Given the description of an element on the screen output the (x, y) to click on. 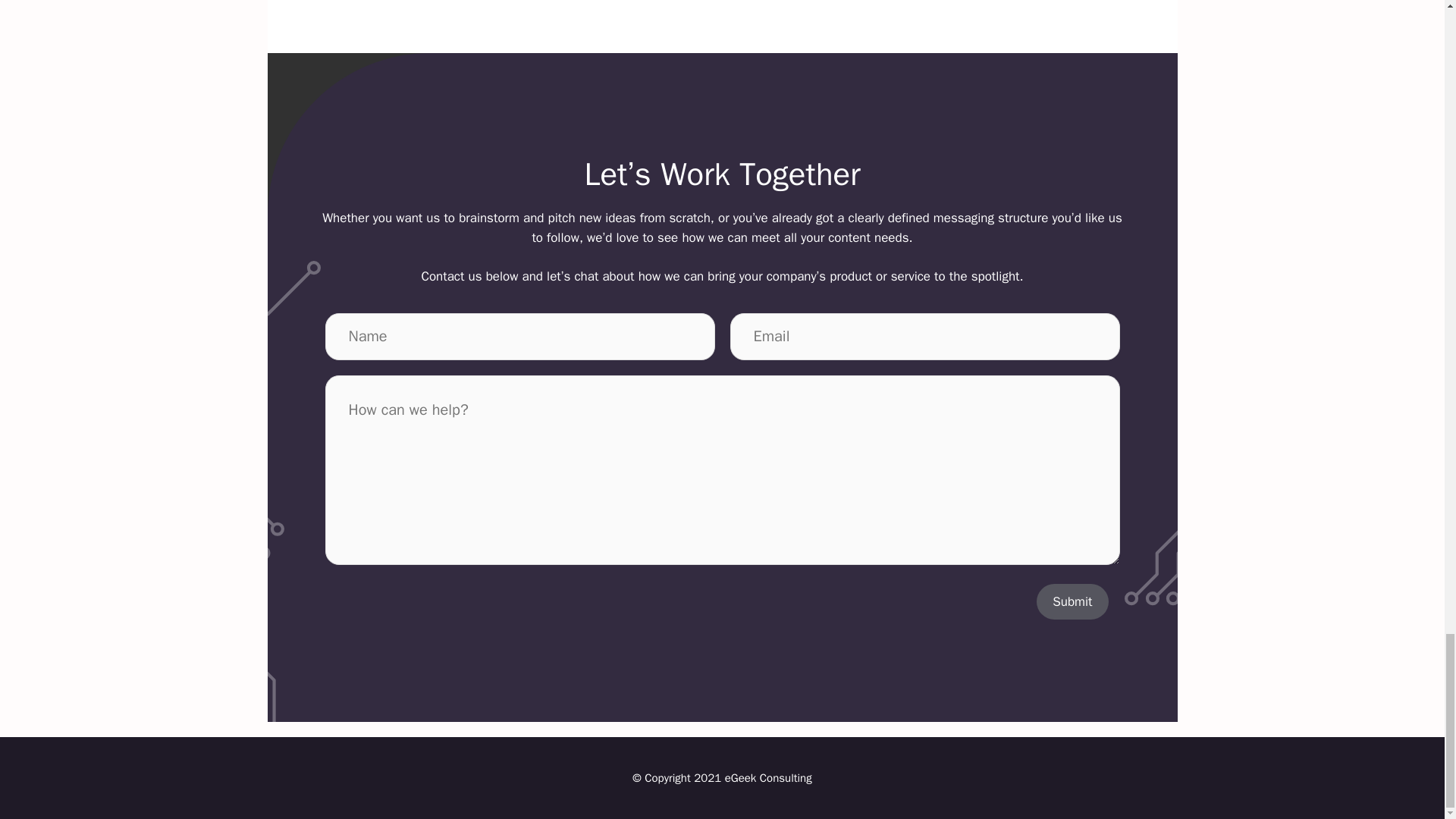
Submit (1072, 601)
Name (519, 336)
Email (924, 336)
